Given the description of an element on the screen output the (x, y) to click on. 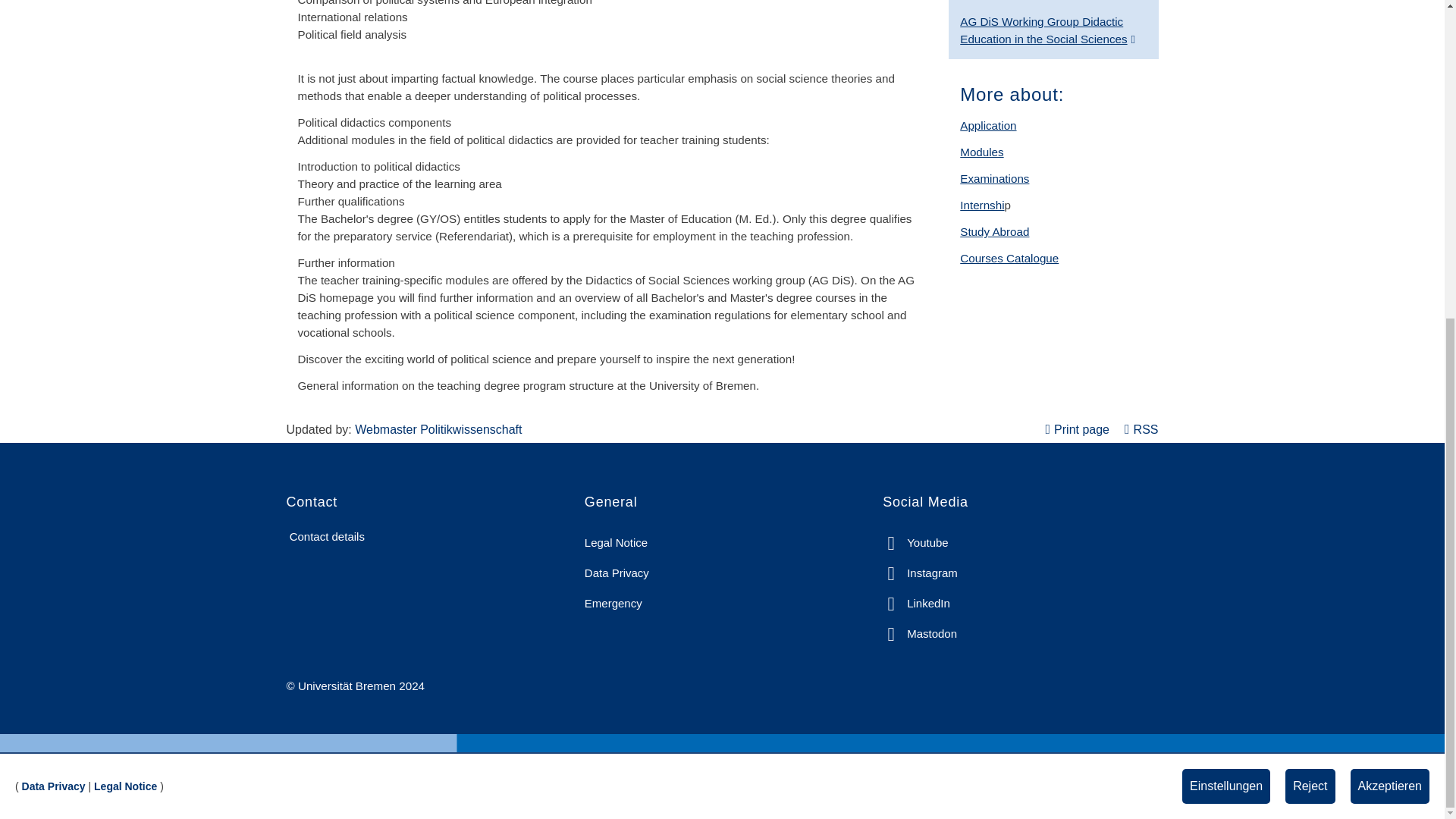
Opens external link in new window (1047, 30)
Open link to Mastodon in a new window (919, 633)
Open link to Instagram in a new window (920, 572)
Seite als RSS Feed (1140, 429)
Scroll to the bottom of the page (1411, 271)
Open link to Linked In in a new window (916, 603)
